Given the description of an element on the screen output the (x, y) to click on. 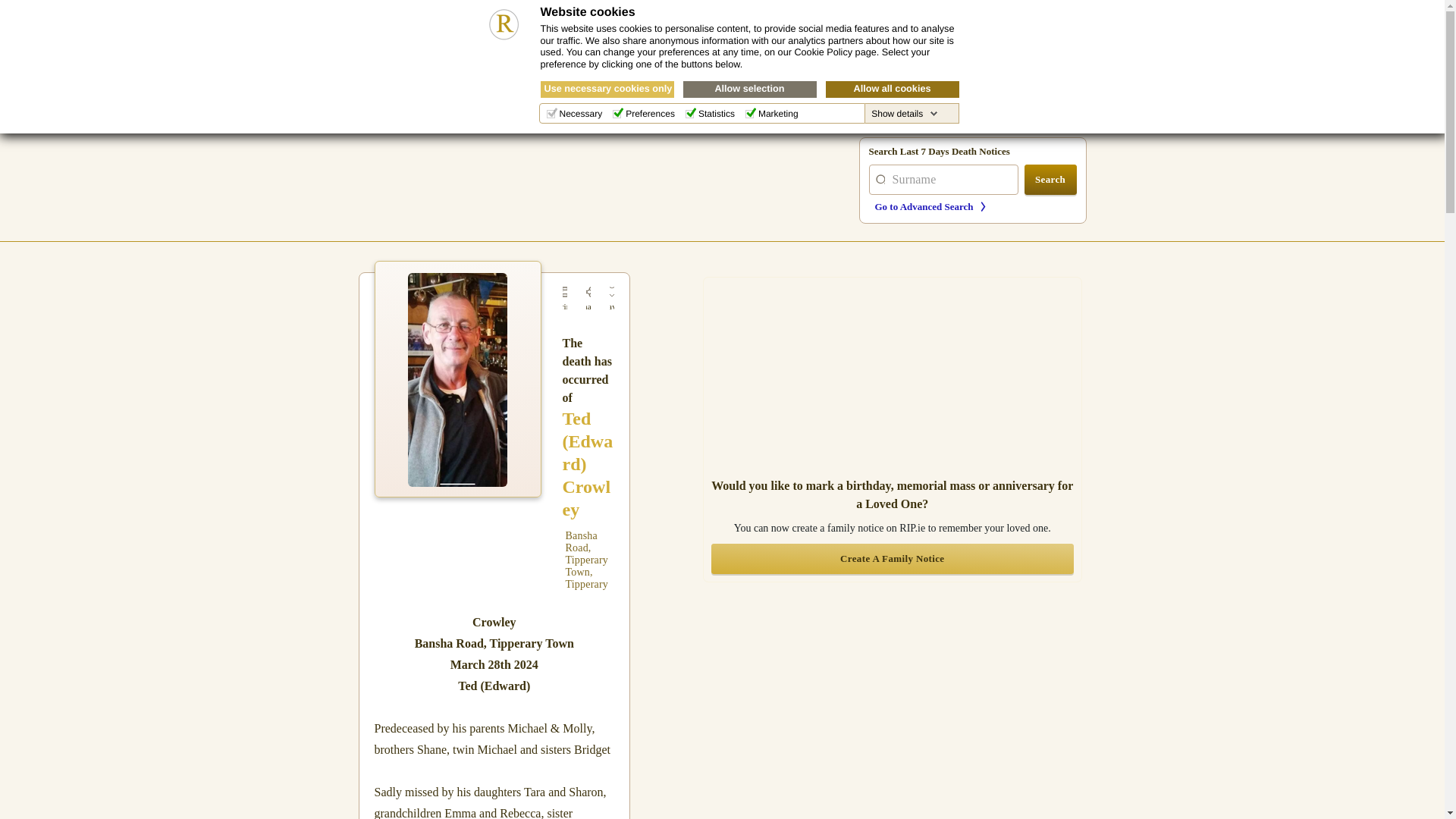
Show details (903, 113)
Allow selection (748, 89)
Allow all cookies (891, 89)
Use necessary cookies only (606, 89)
